Given the description of an element on the screen output the (x, y) to click on. 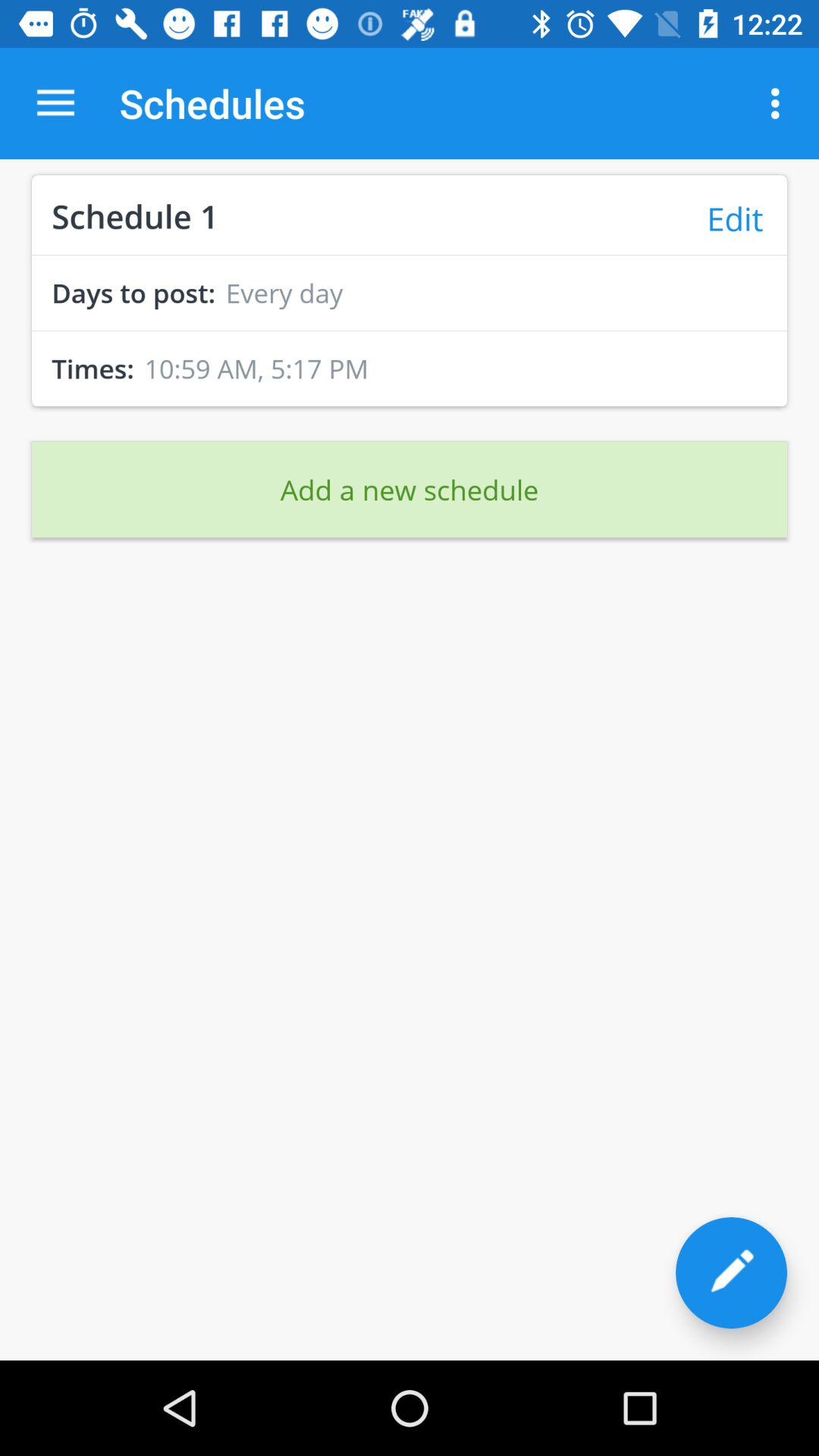
launch icon to the right of times: (256, 368)
